Given the description of an element on the screen output the (x, y) to click on. 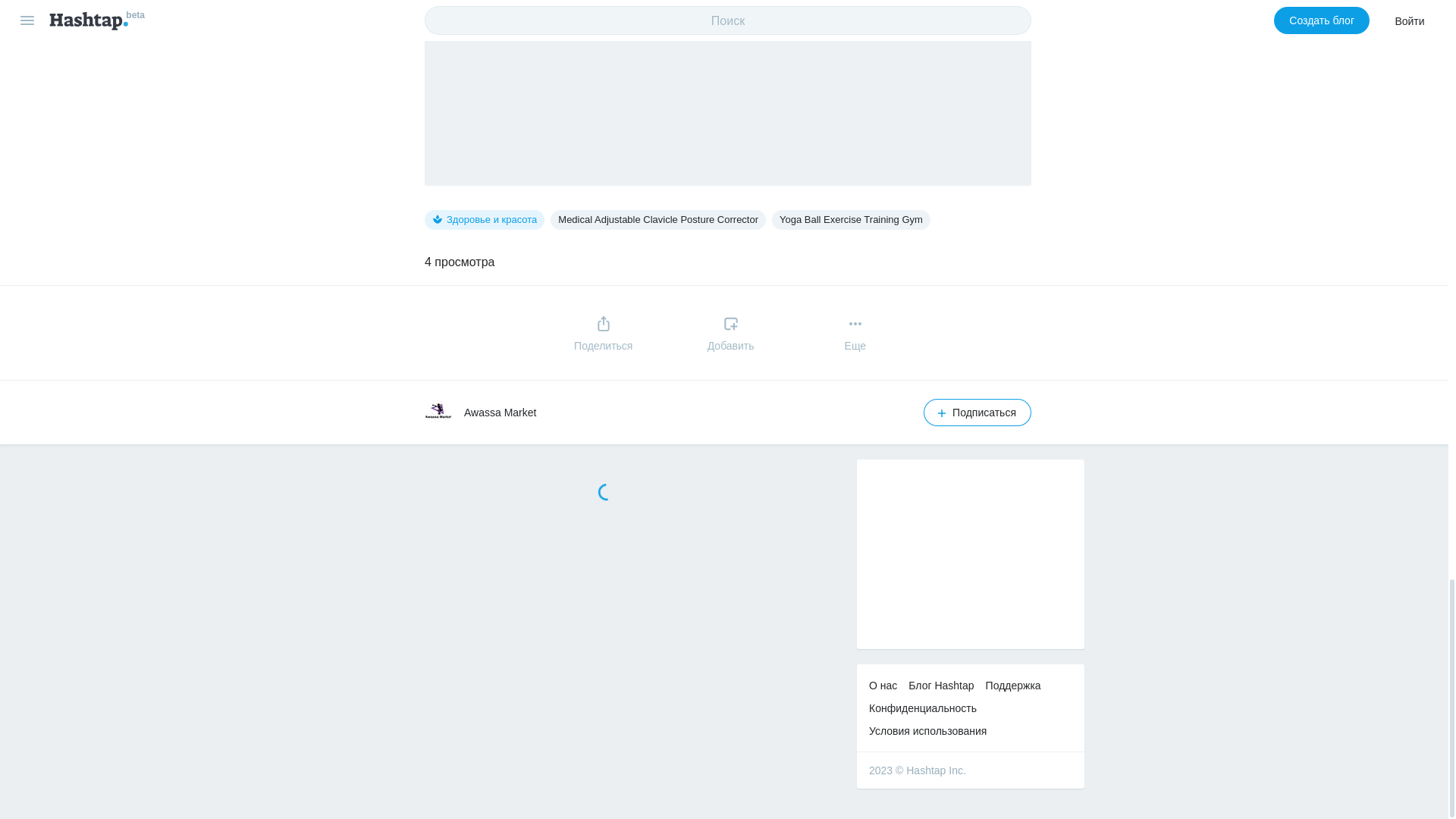
Awassa Market (499, 412)
Medical Adjustable Clavicle Posture Corrector (657, 219)
Yoga Ball Exercise Training Gym (850, 219)
